Given the description of an element on the screen output the (x, y) to click on. 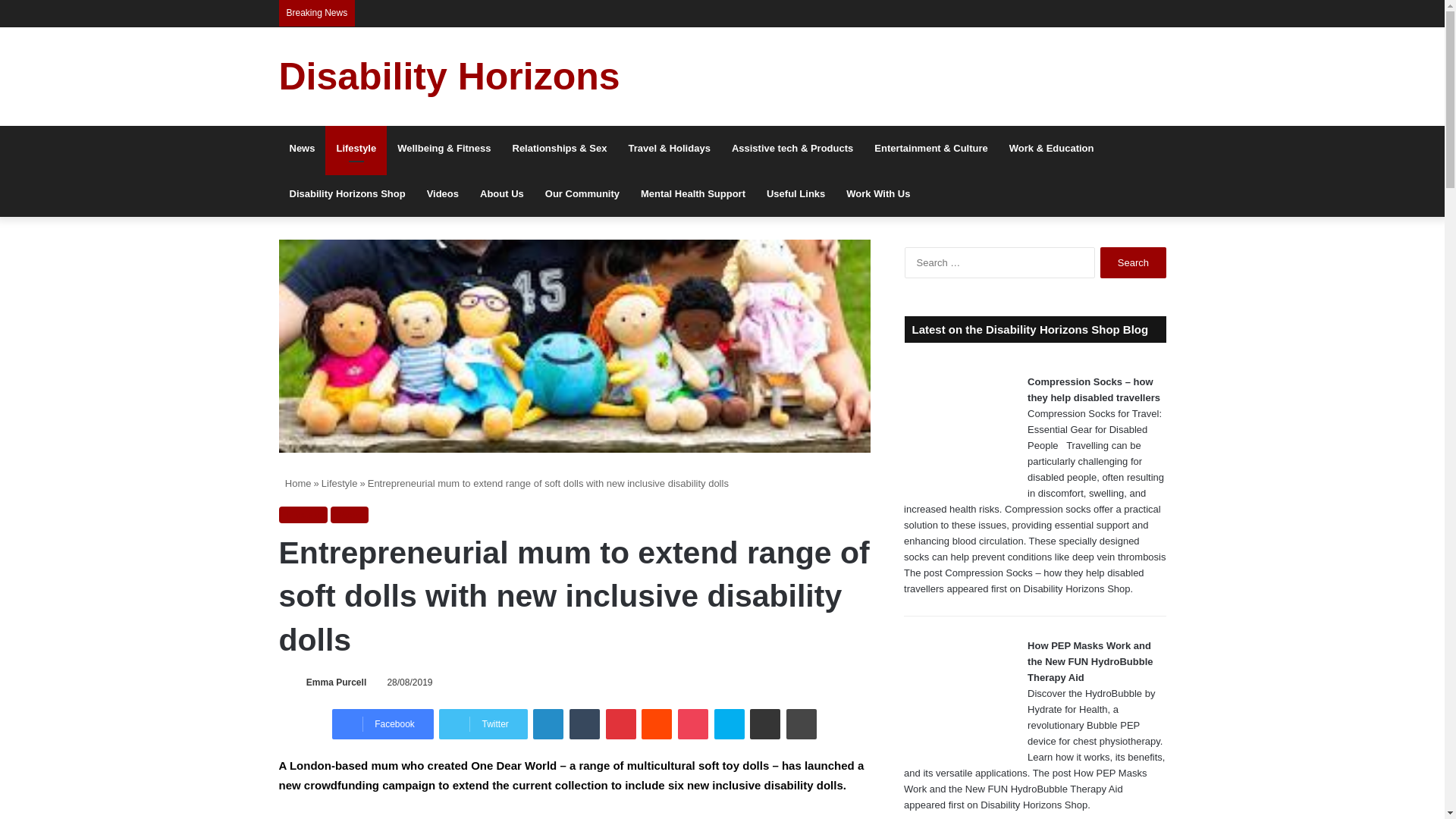
News (302, 148)
Disability Horizons (449, 76)
Work With Us (877, 194)
Tumblr (584, 724)
Lifestyle (355, 148)
Videos (442, 194)
Print (801, 724)
Reddit (656, 724)
Lifestyle (303, 514)
Reddit (656, 724)
Home (295, 482)
Disability Horizons Shop (347, 194)
Skype (729, 724)
Mental Health Support (692, 194)
Tumblr (584, 724)
